Given the description of an element on the screen output the (x, y) to click on. 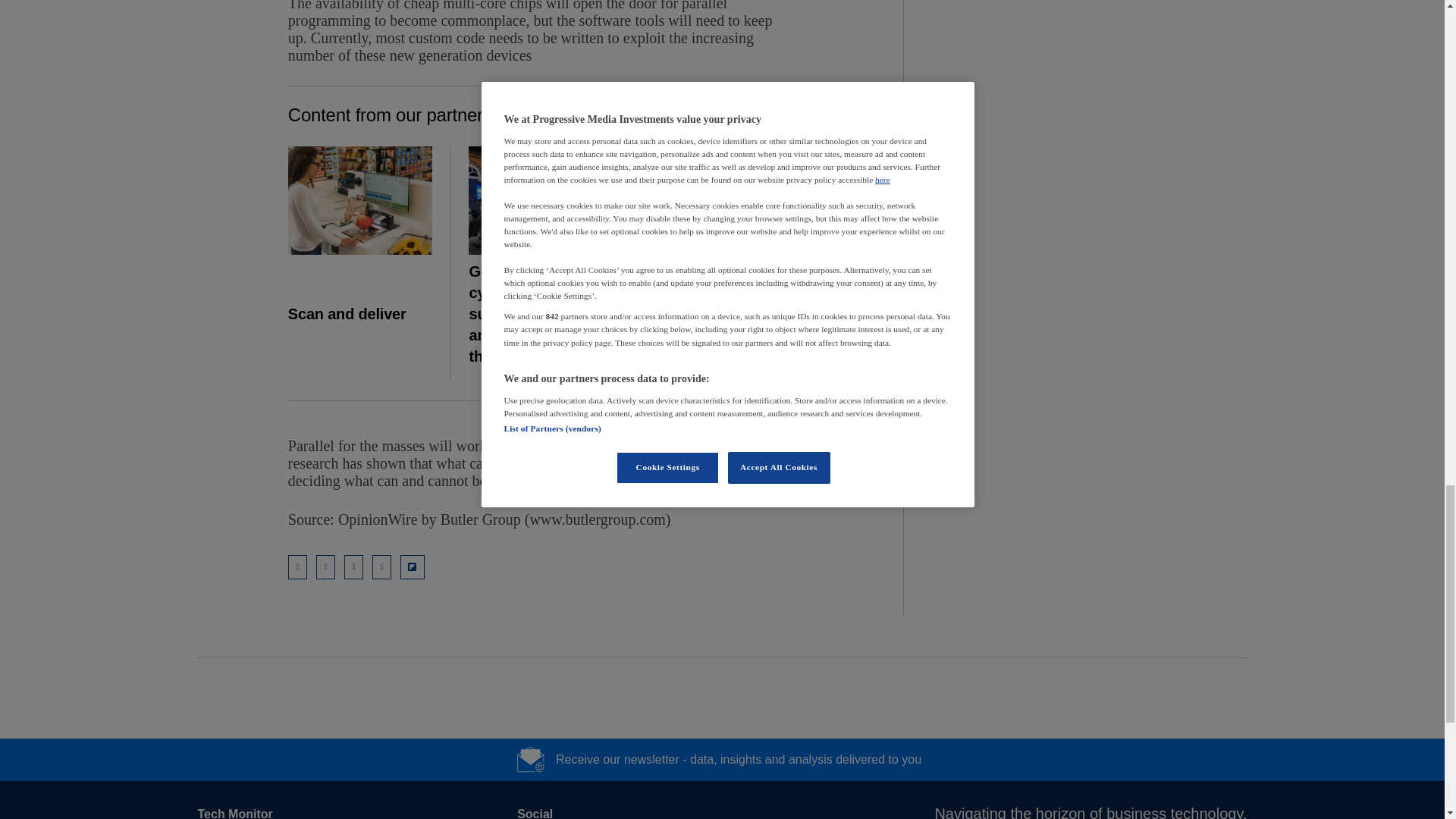
Share on Flipboard (412, 567)
Share on LinkedIN (324, 567)
Scan and deliver (360, 200)
Share in an email (297, 567)
Share on Twitter (352, 567)
Share on facebook (381, 567)
